Given the description of an element on the screen output the (x, y) to click on. 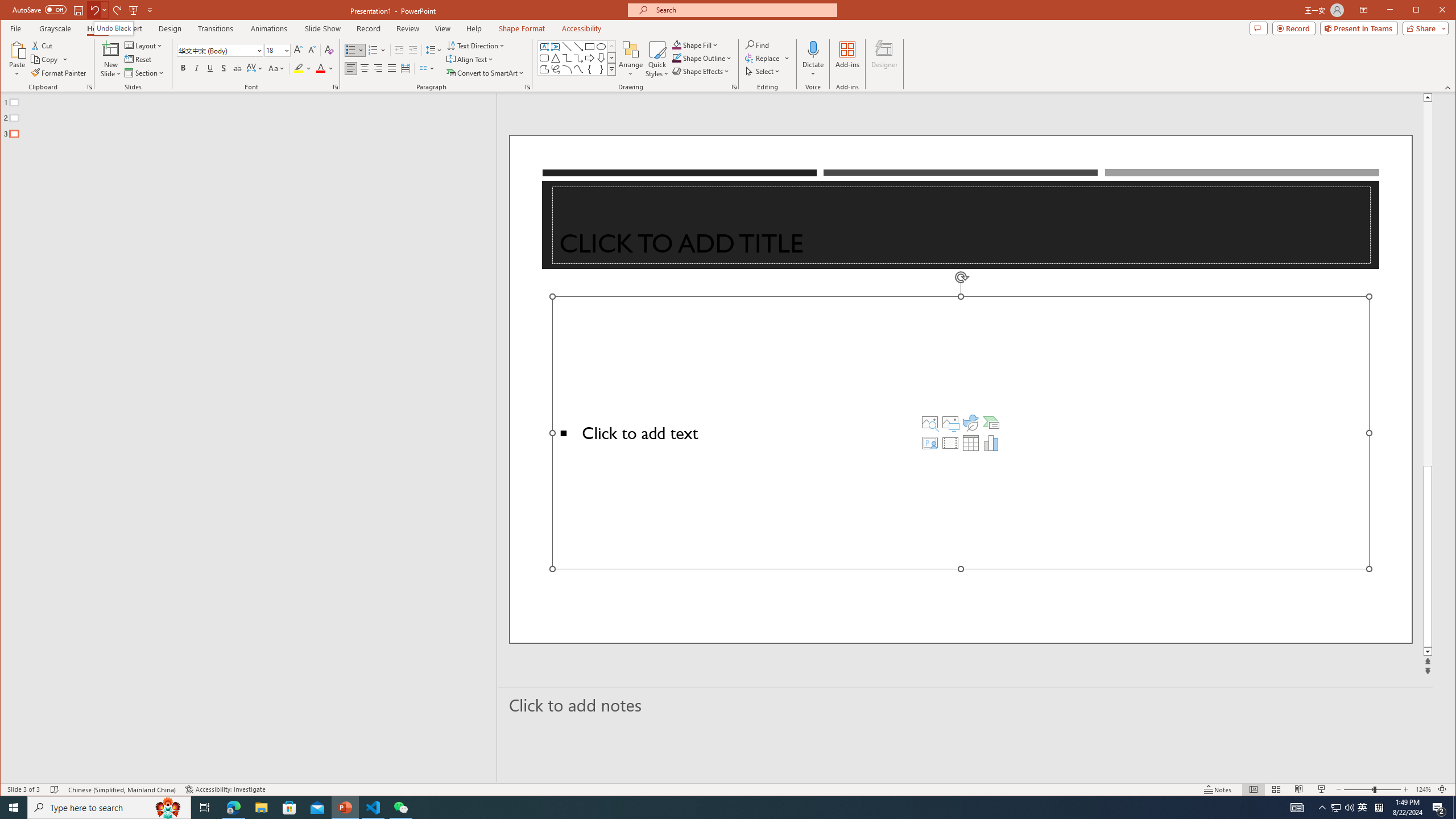
Shape Outline (1362, 807)
Character Spacing (702, 57)
Row Down (254, 68)
Pictures (611, 57)
Shadow (949, 422)
Arrange (224, 68)
Action Center, 2 new notifications (631, 59)
Copy (1439, 807)
Increase Indent (45, 59)
